Given the description of an element on the screen output the (x, y) to click on. 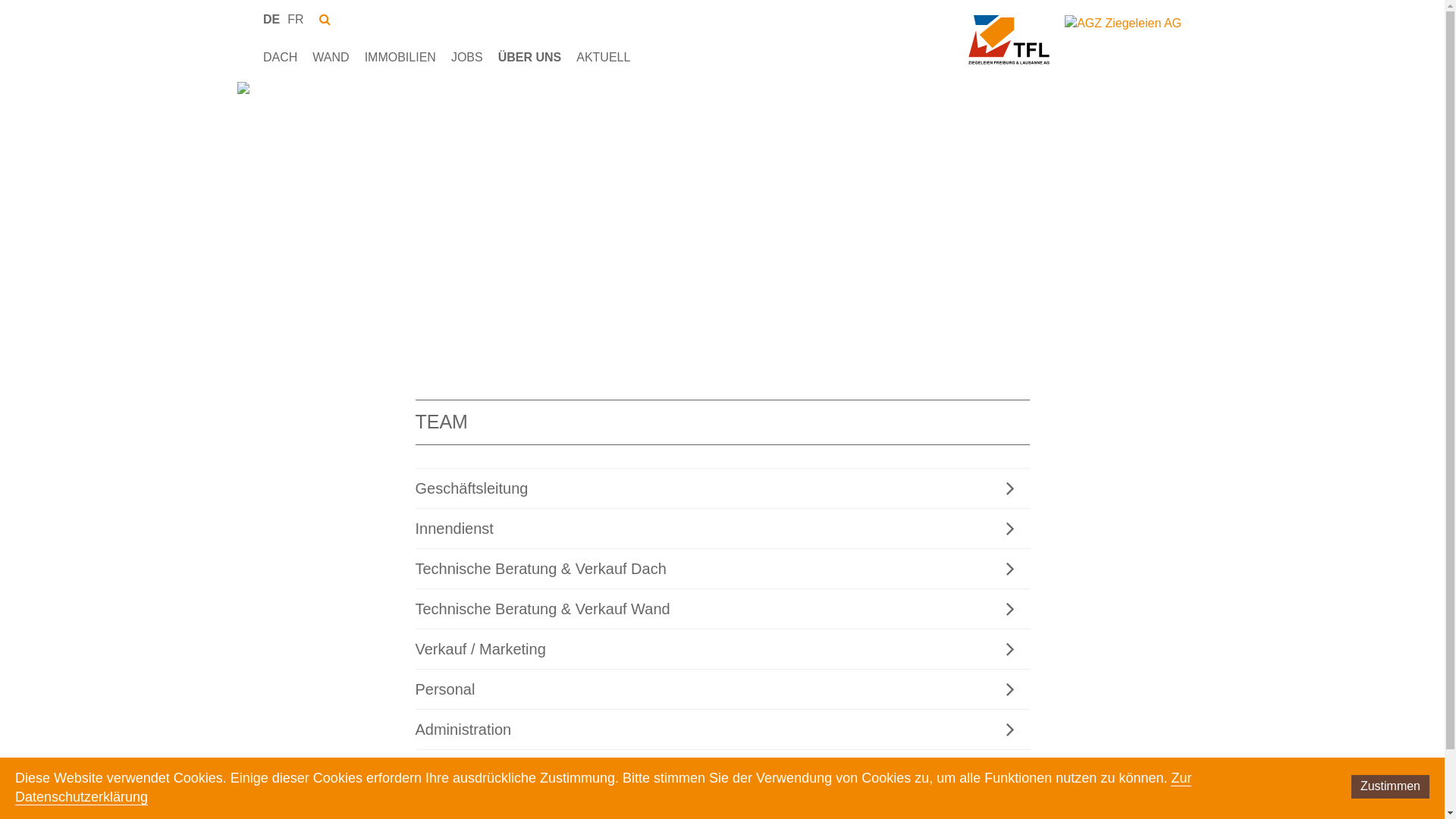
AGZ Ziegeleien AG Element type: hover (1008, 40)
AKTUELL Element type: text (603, 57)
DE Element type: text (271, 18)
JOBS Element type: text (467, 57)
WAND Element type: text (330, 57)
DACH Element type: text (280, 57)
AGZ Ziegeleien AG Element type: hover (1122, 23)
FR Element type: text (295, 18)
IMMOBILIEN Element type: text (400, 57)
